Given the description of an element on the screen output the (x, y) to click on. 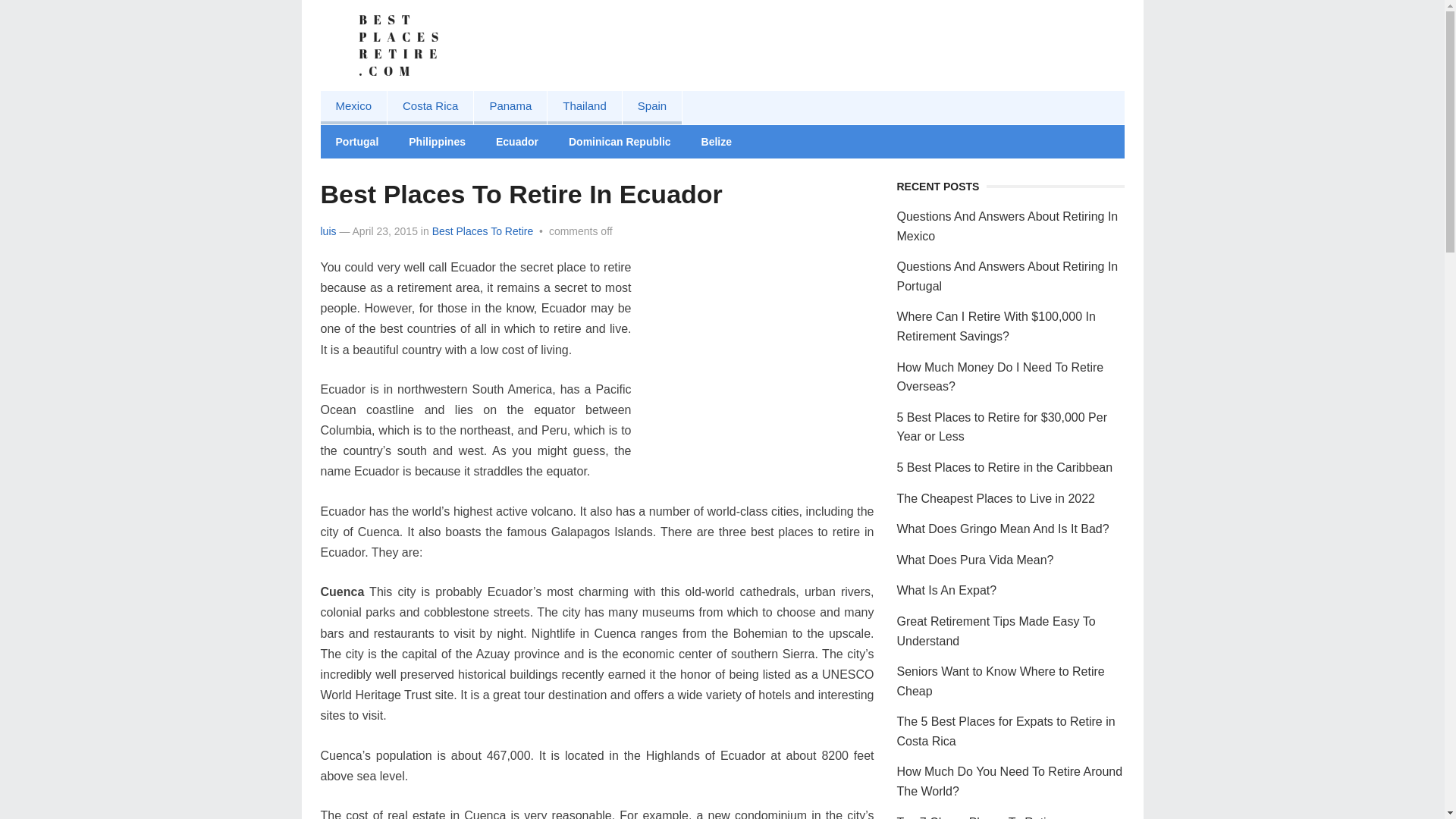
Mexico (353, 107)
How Much Money Do I Need To Retire Overseas? (999, 377)
Thailand (584, 107)
luis (328, 231)
5 Best Places to Retire in the Caribbean (1004, 467)
Dominican Republic (619, 141)
Questions And Answers About Retiring In Mexico (1007, 225)
Belize (715, 141)
Best Places To Retire (483, 231)
Philippines (436, 141)
